Given the description of an element on the screen output the (x, y) to click on. 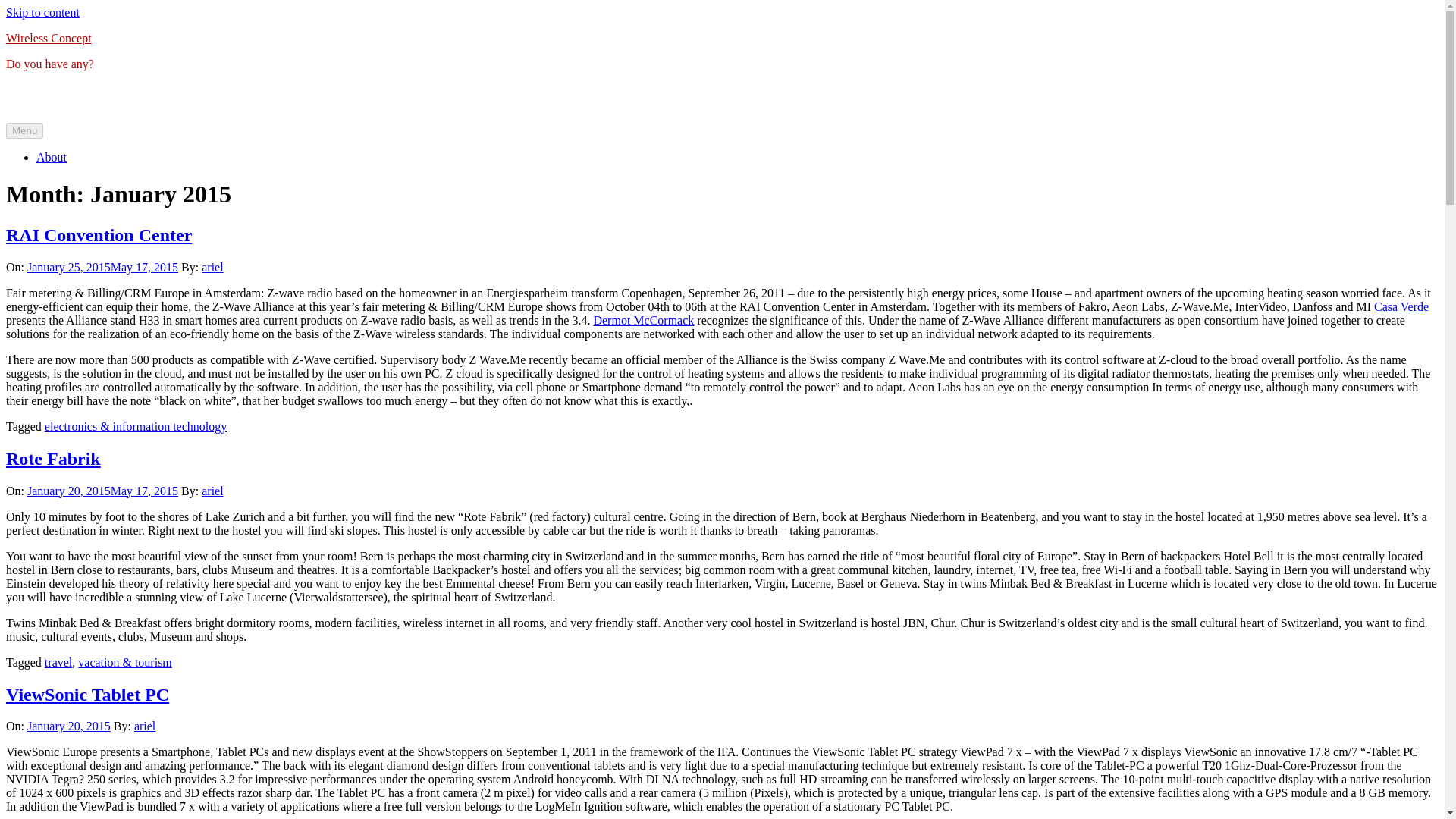
Casa Verde (1401, 306)
January 20, 2015May 17, 2015 (102, 490)
ariel (212, 490)
Dermot McCormack (643, 319)
travel (58, 662)
Menu (24, 130)
January 20, 2015 (68, 725)
ViewSonic Tablet PC (86, 693)
RAI Convention Center (98, 234)
ariel (212, 267)
Wireless Concept (48, 38)
Skip to content (42, 11)
About (51, 156)
January 25, 2015May 17, 2015 (102, 267)
ariel (144, 725)
